Given the description of an element on the screen output the (x, y) to click on. 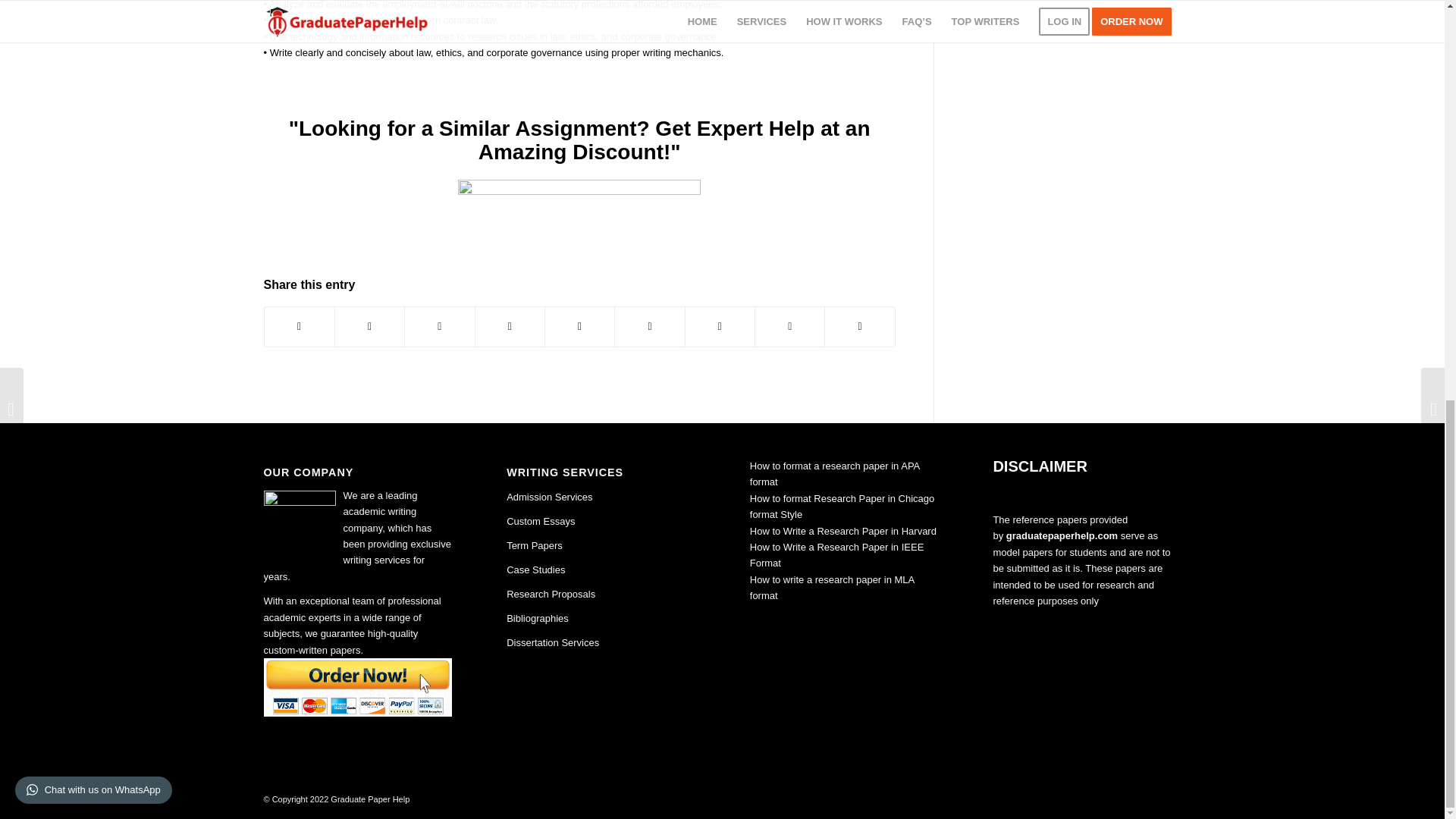
How to write a research paper in MLA format (831, 587)
How to format a research paper in APA format (834, 473)
How to Write a Research Paper in Harvard (842, 531)
Custom Essays (540, 521)
Research Proposals (550, 593)
Dissertation Services (552, 642)
How to format Research Paper in Chicago format Style (841, 506)
Case Studies (535, 569)
Bibliographies (537, 618)
How to Write a Research Paper in IEEE Format (836, 554)
Admission Services (549, 496)
Term Papers (534, 545)
